Given the description of an element on the screen output the (x, y) to click on. 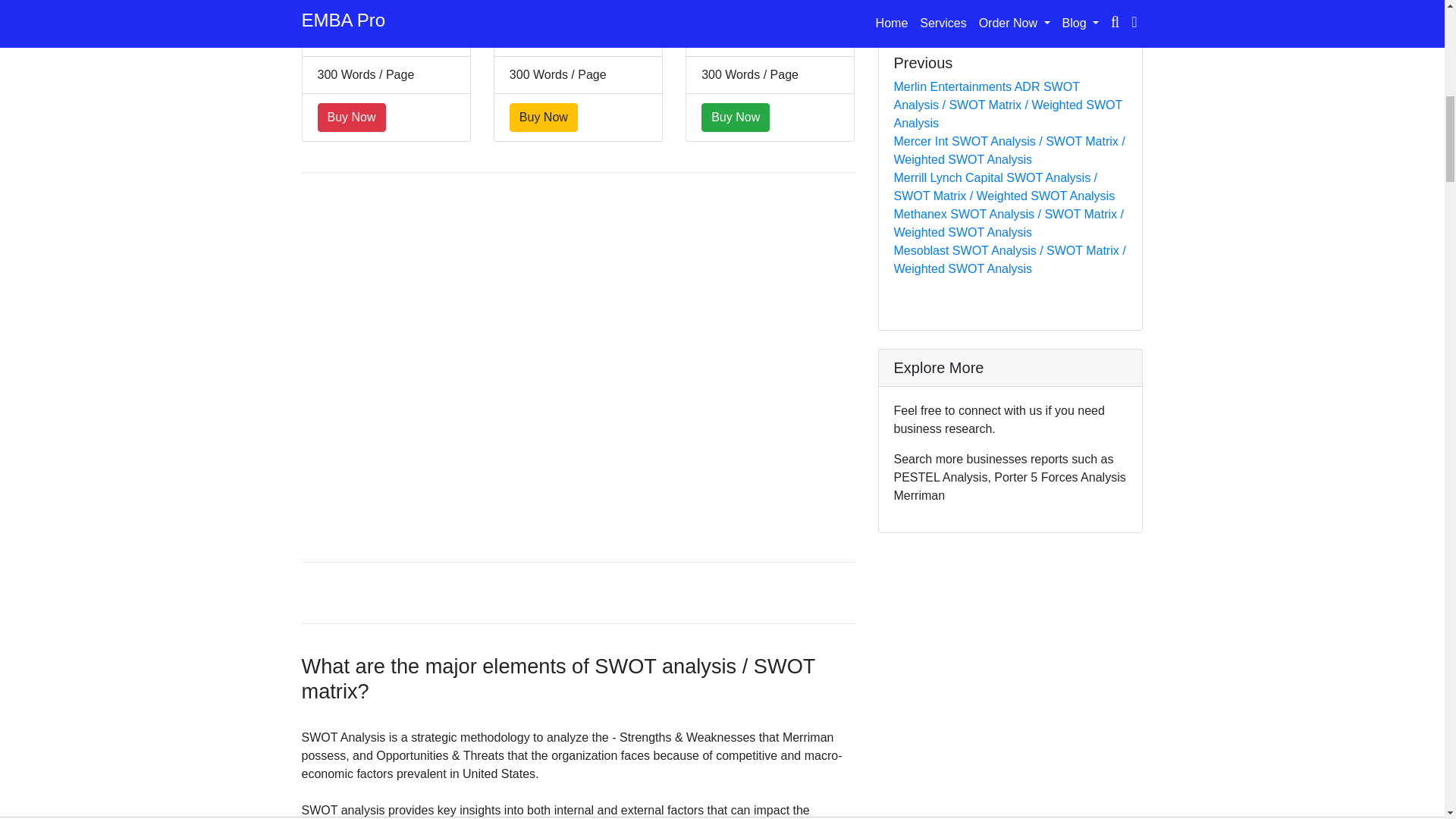
Buy Now (543, 117)
Buy Now (351, 117)
